Given the description of an element on the screen output the (x, y) to click on. 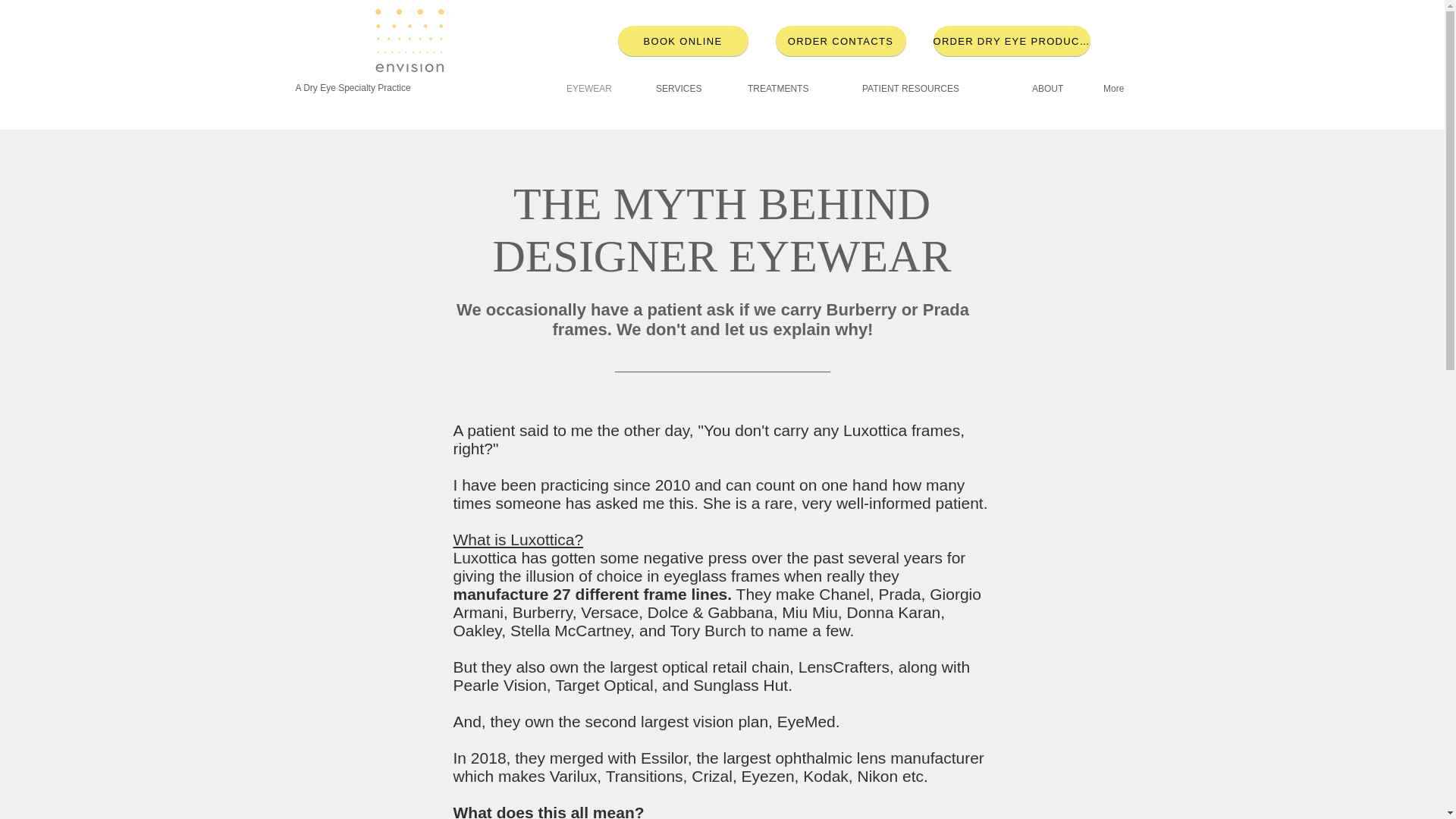
BOOK ONLINE (682, 40)
TREATMENTS (793, 88)
PATIENT RESOURCES (935, 88)
EYEWEAR (599, 88)
ORDER CONTACTS (839, 40)
ABOUT (1056, 88)
SERVICES (690, 88)
ORDER DRY EYE PRODUCTS (1011, 40)
